Given the description of an element on the screen output the (x, y) to click on. 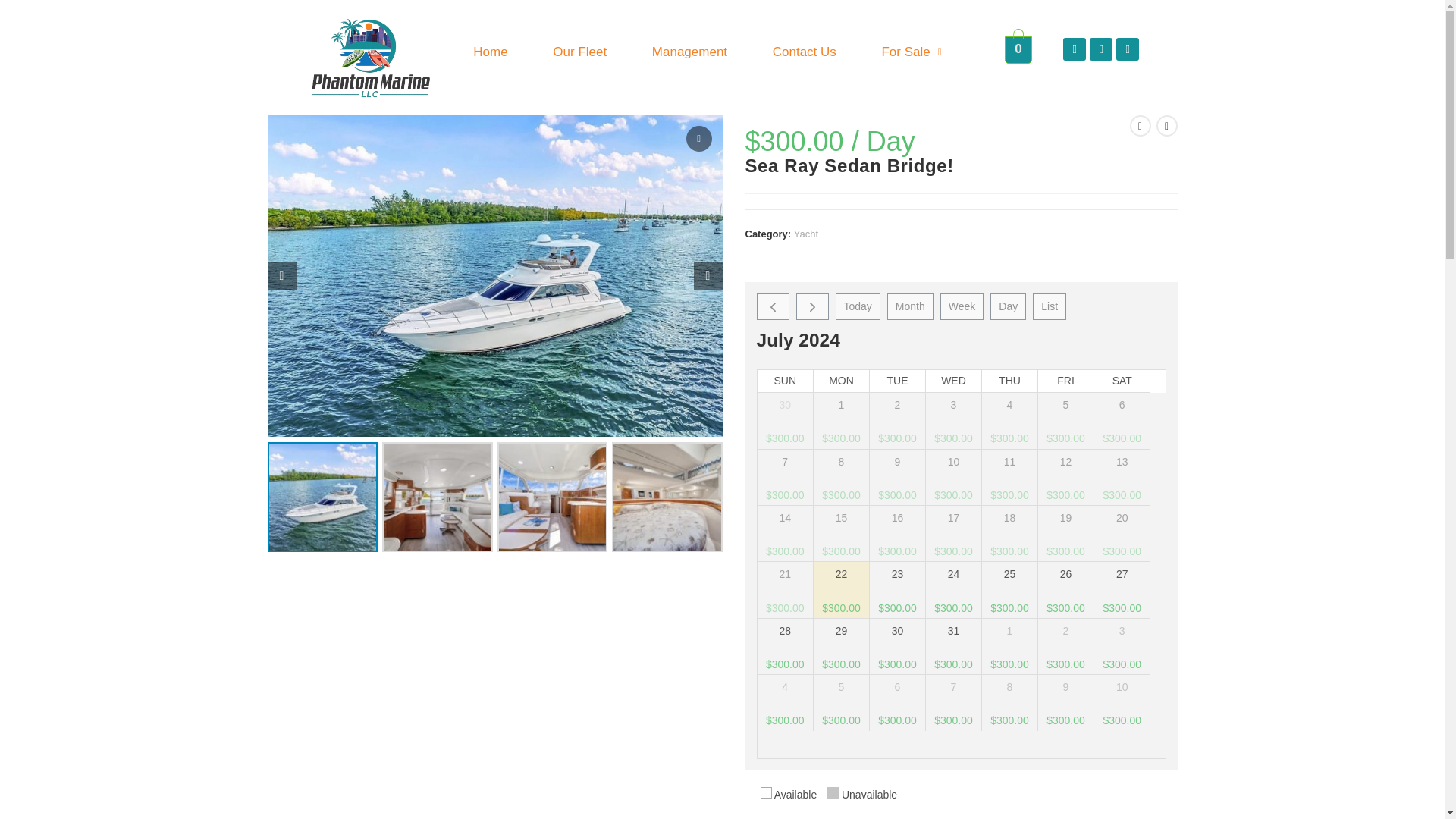
MON (960, 381)
TUE (841, 381)
Home (896, 381)
Our Fleet (489, 51)
View your shopping cart (961, 381)
Contact Us (580, 51)
WED (1018, 48)
THU (804, 51)
SUN (953, 381)
FRI (1008, 381)
0 (784, 381)
SAT (1065, 381)
For Sale (1018, 48)
